Given the description of an element on the screen output the (x, y) to click on. 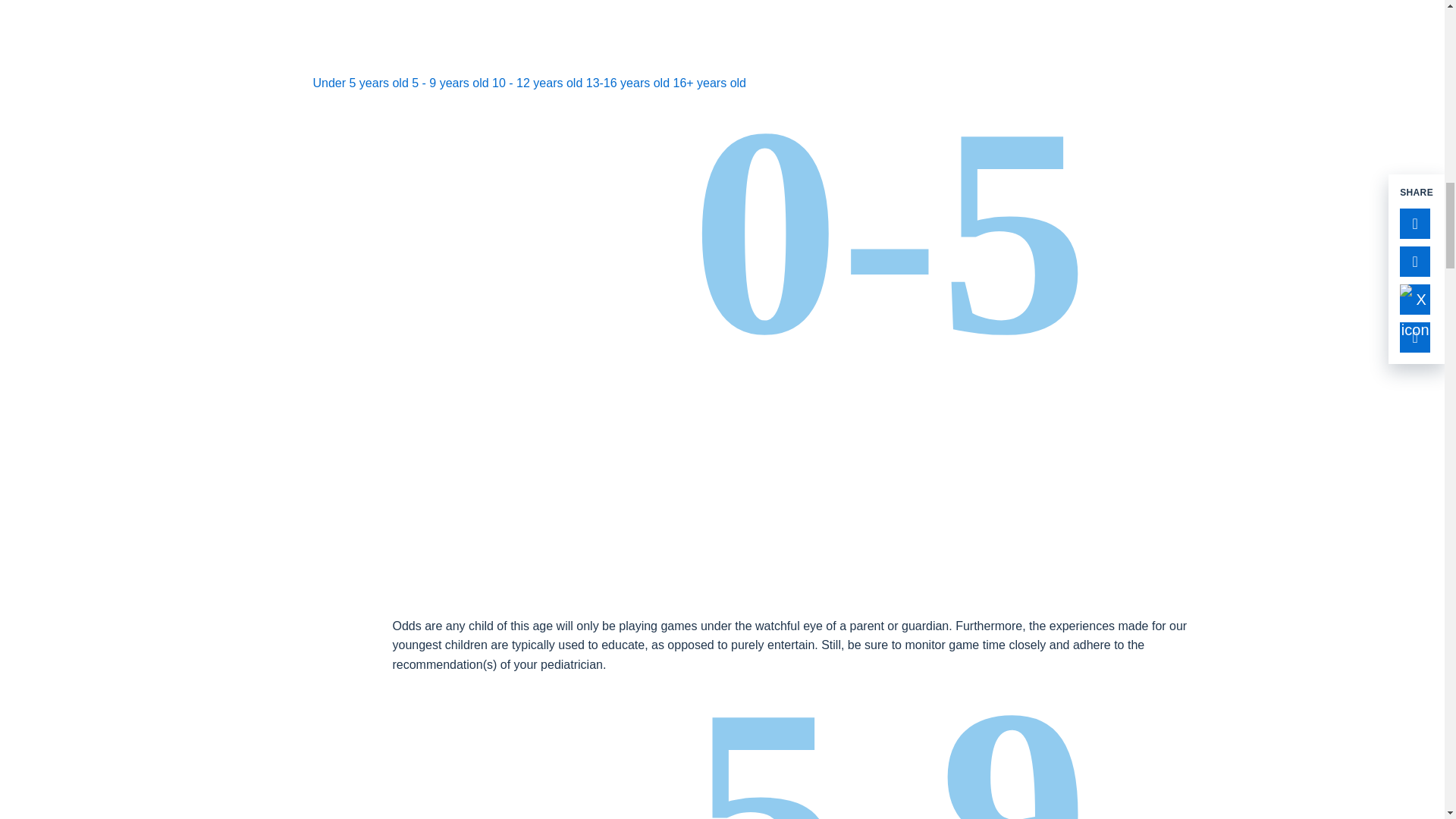
5 - 9 years old (449, 82)
5-9 (789, 746)
13-16 years old (627, 82)
Under 5 years old (360, 82)
10 - 12 years old (537, 82)
